Given the description of an element on the screen output the (x, y) to click on. 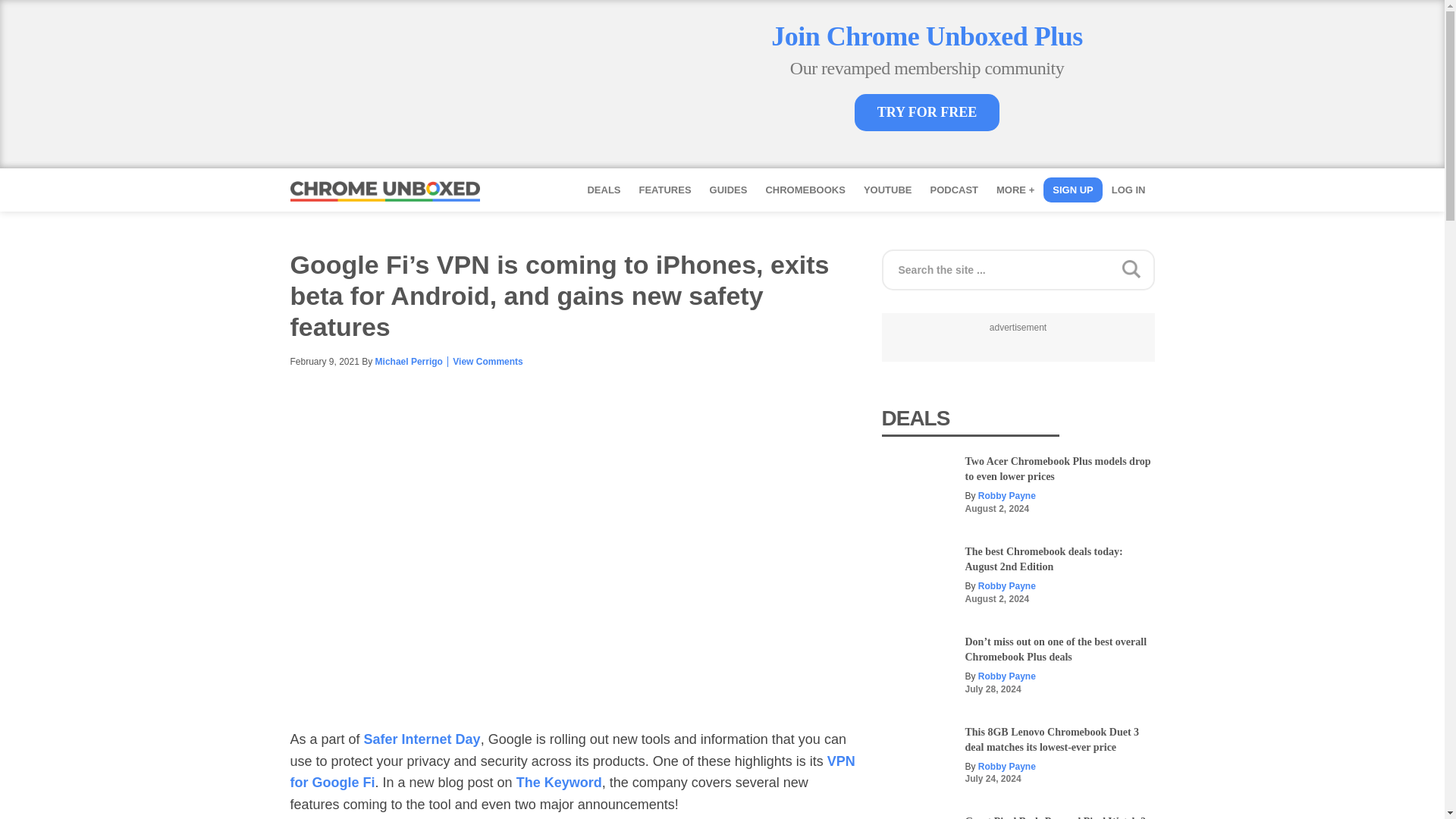
FEATURES (664, 189)
TRY FOR FREE (927, 112)
DEALS (603, 189)
YOUTUBE (887, 189)
Search (1290, 263)
PODCAST (953, 189)
CHROMEBOOKS (804, 189)
GUIDES (728, 189)
Search (1290, 263)
